Given the description of an element on the screen output the (x, y) to click on. 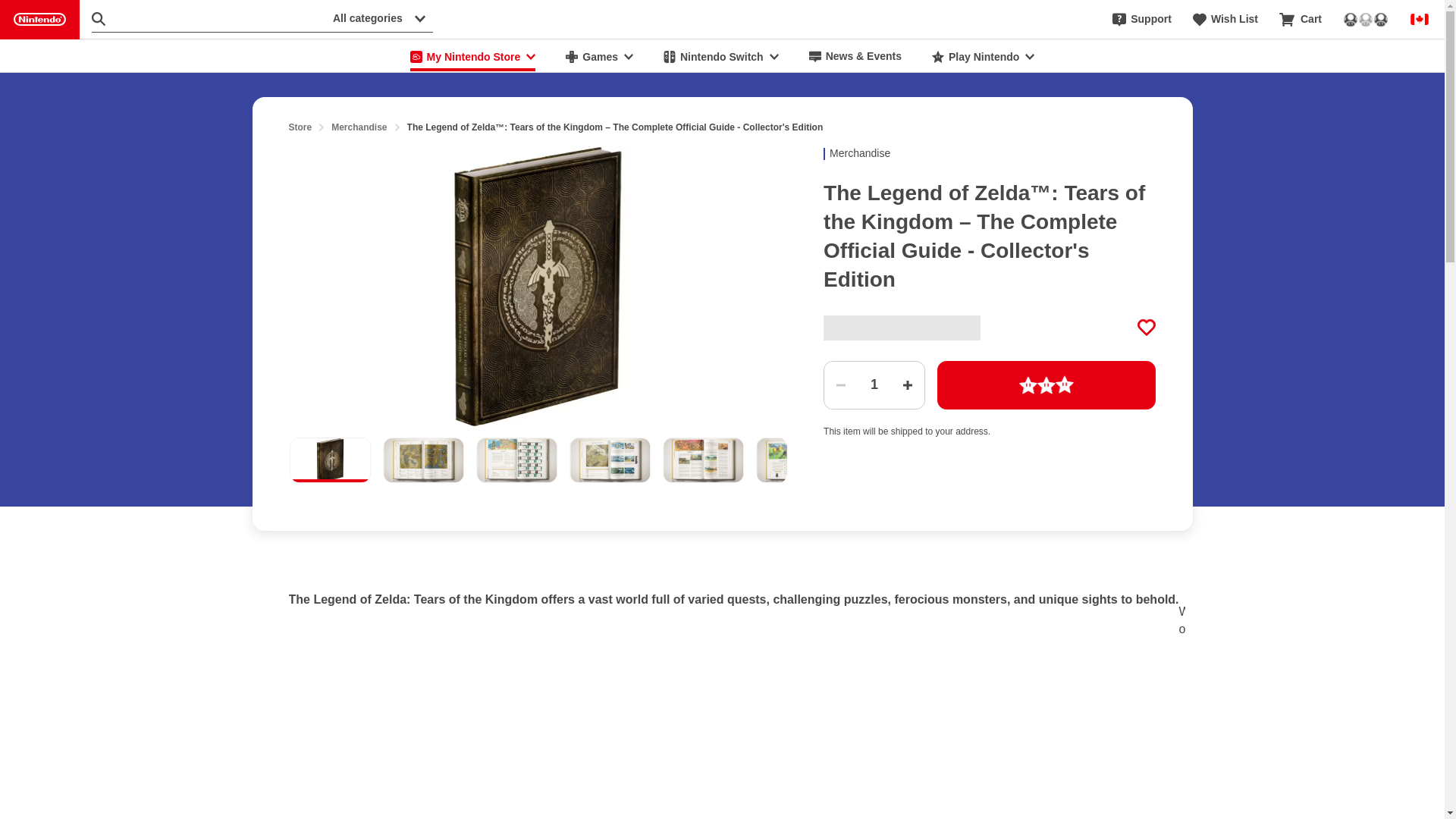
Loading (1046, 385)
Merchandise (359, 127)
Support (1142, 19)
Nintendo Switch (720, 56)
Play Nintendo (983, 56)
Nintendo (40, 19)
Cart (1300, 19)
Wish List (1224, 19)
Games (599, 56)
Add to Wish List (1146, 327)
